Given the description of an element on the screen output the (x, y) to click on. 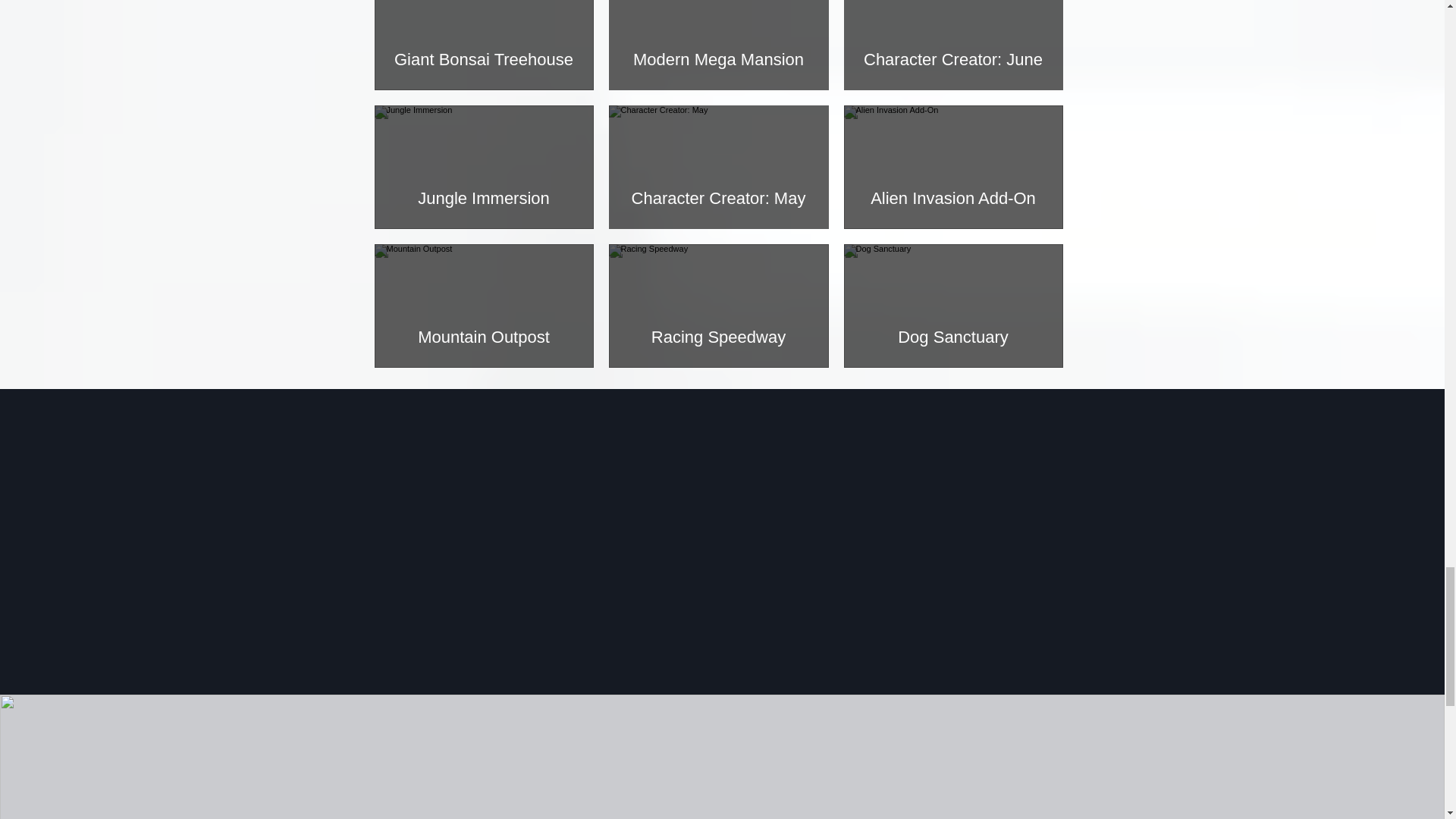
Alien Invasion Add-On (952, 198)
Character Creator: June (952, 59)
Mountain Outpost (483, 336)
Character Creator: May (718, 198)
Jungle Immersion (483, 198)
Dog Sanctuary (952, 336)
Modern Mega Mansion (718, 59)
Giant Bonsai Treehouse (483, 59)
Racing Speedway (718, 336)
